Given the description of an element on the screen output the (x, y) to click on. 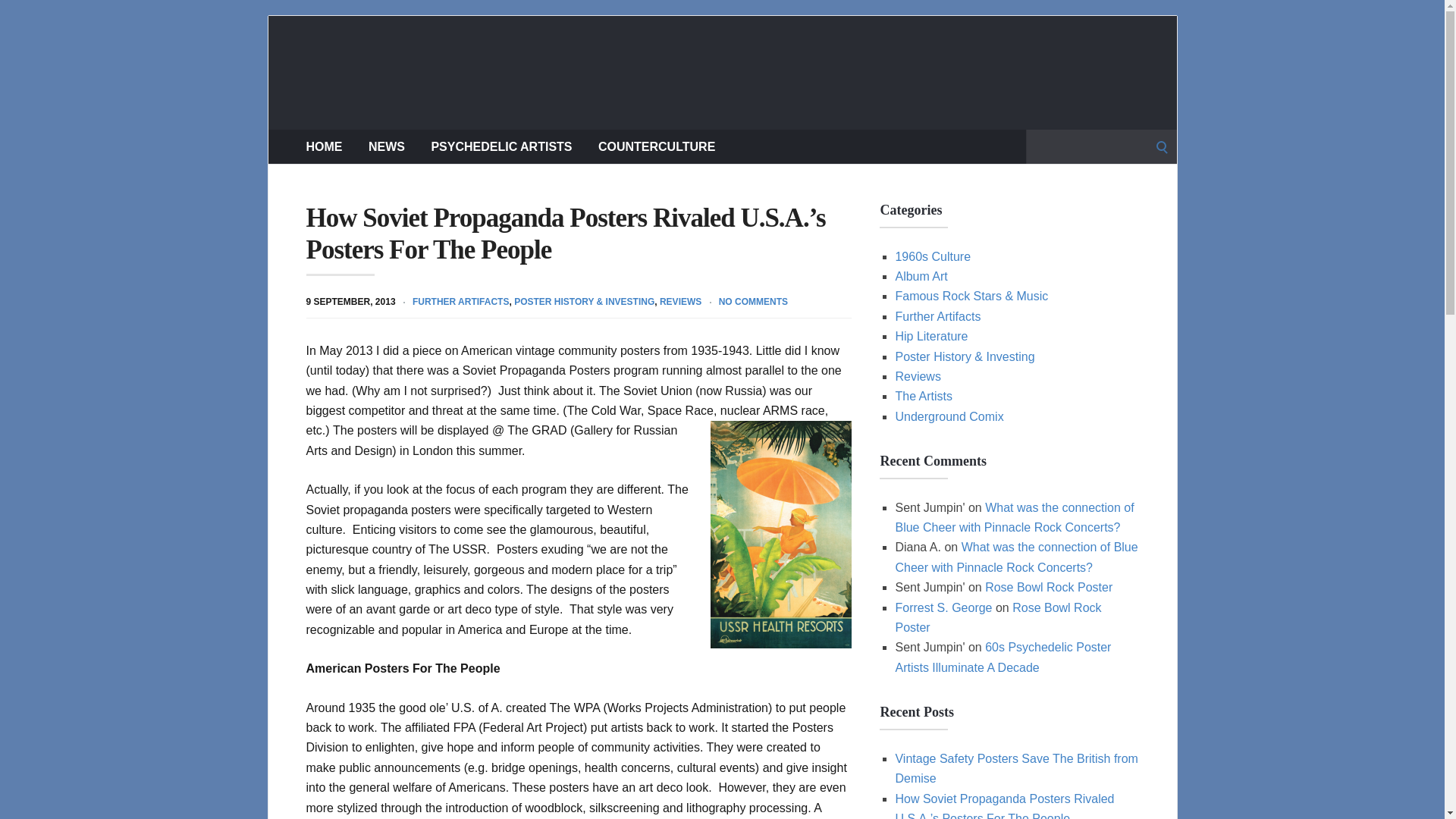
NO COMMENTS (753, 301)
Underground Comix (949, 416)
PSYCHEDELIC ARTISTS (501, 146)
NEWS (386, 146)
Famous Rock Posters (721, 72)
FURTHER ARTIFACTS (460, 301)
Reviews (917, 376)
Search (16, 17)
Further Artifacts (937, 316)
COUNTERCULTURE (656, 146)
1960s Culture (933, 256)
The Artists (923, 395)
HOME (323, 146)
REVIEWS (680, 301)
